Given the description of an element on the screen output the (x, y) to click on. 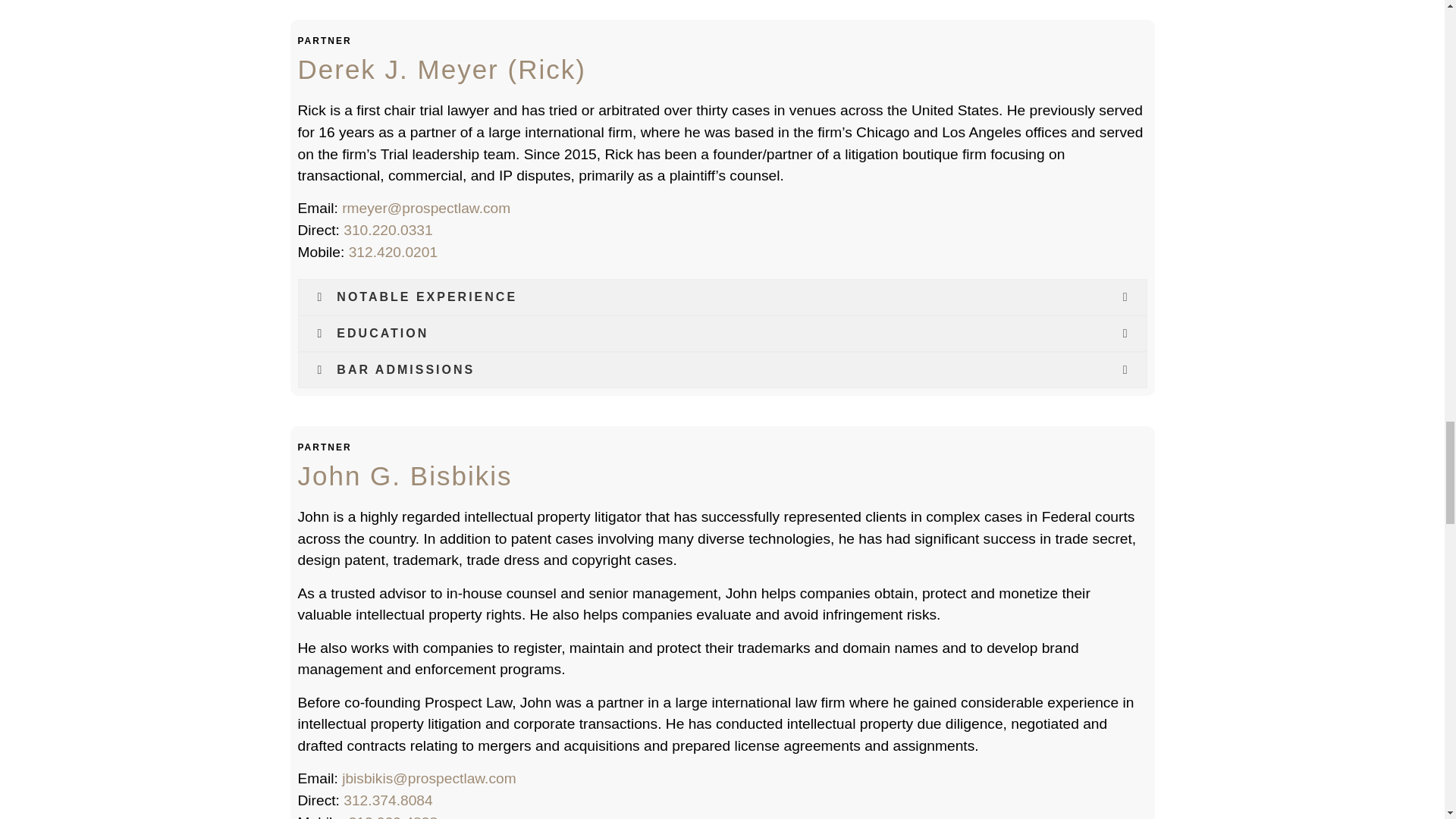
310.220.0331 (387, 229)
312.374.8084 (387, 800)
312.420.0201 (393, 252)
312.909.4838 (393, 816)
